Given the description of an element on the screen output the (x, y) to click on. 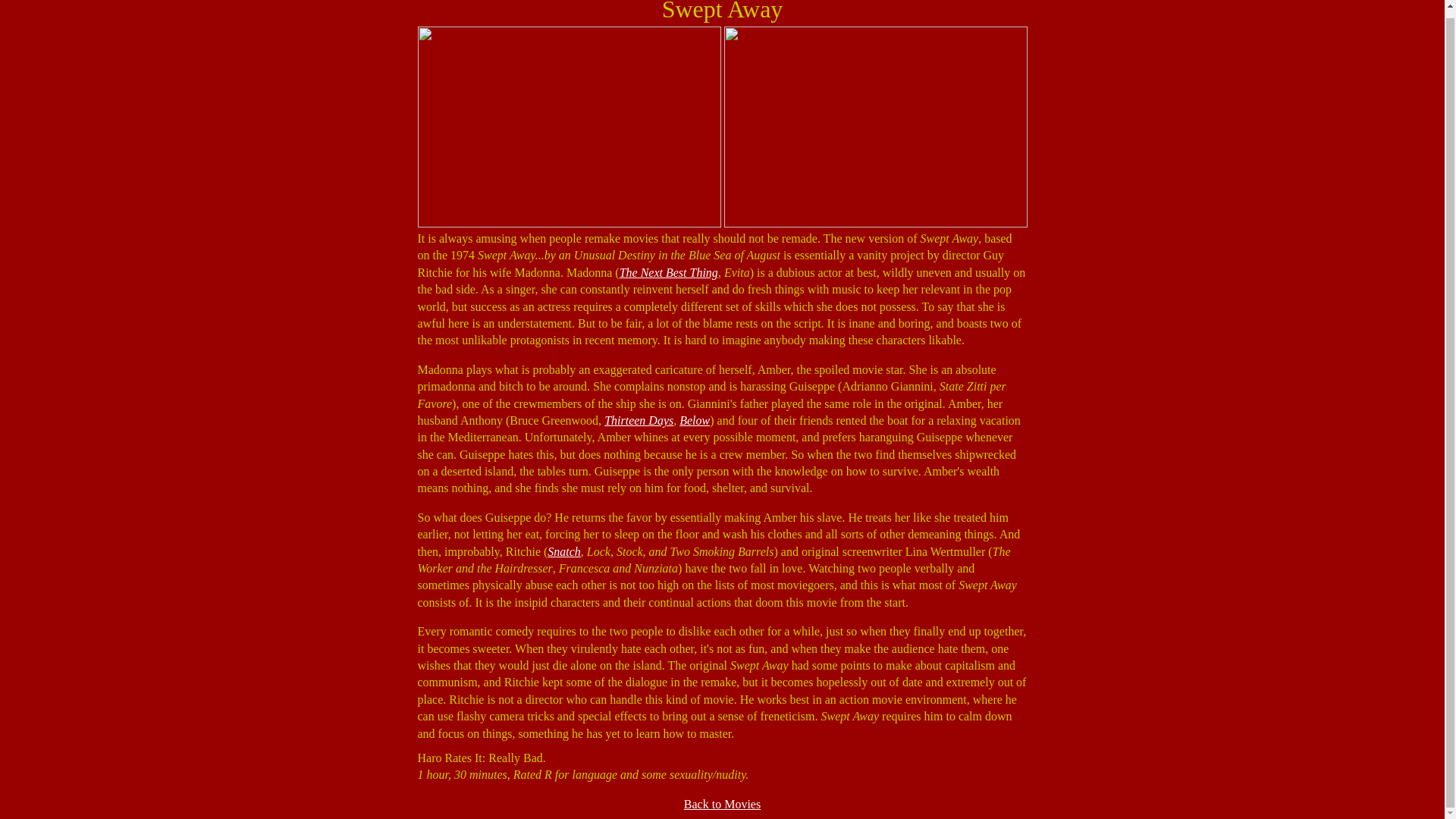
Thirteen Days (638, 420)
Below (694, 420)
Back to Movies (722, 803)
The Next Best Thing (668, 272)
Snatch (563, 551)
